Given the description of an element on the screen output the (x, y) to click on. 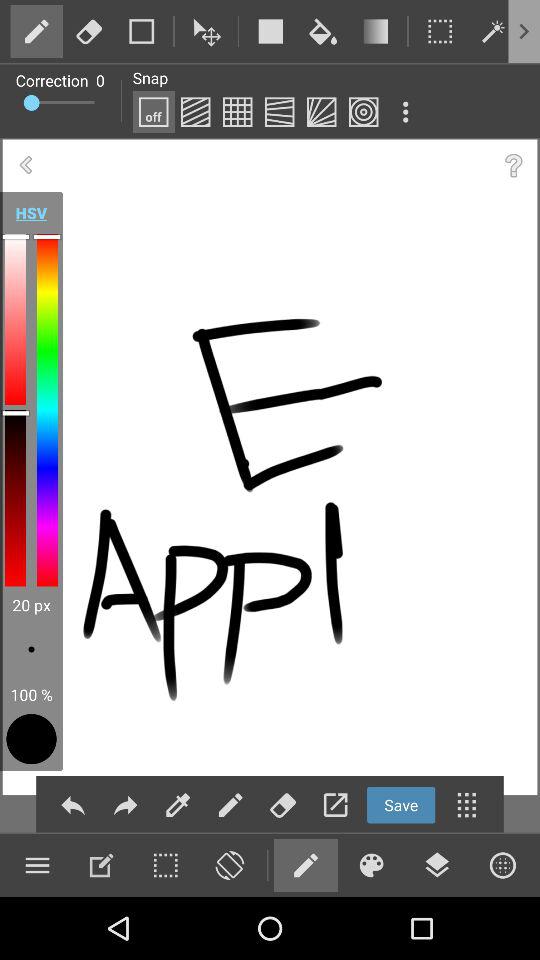
expand (335, 804)
